Given the description of an element on the screen output the (x, y) to click on. 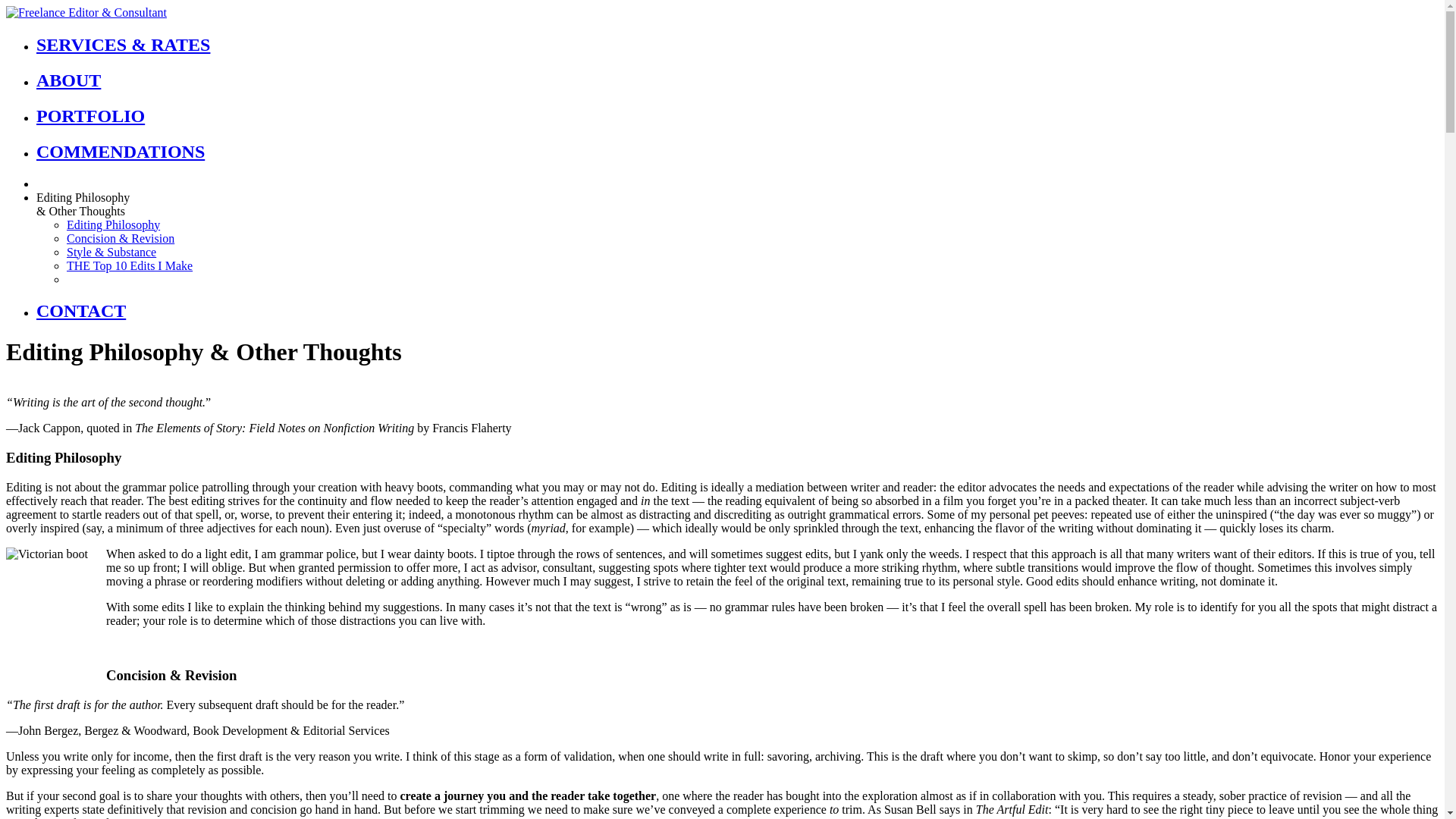
THE Top 10 Edits I Make (129, 265)
Editing Philosophy (113, 224)
